Given the description of an element on the screen output the (x, y) to click on. 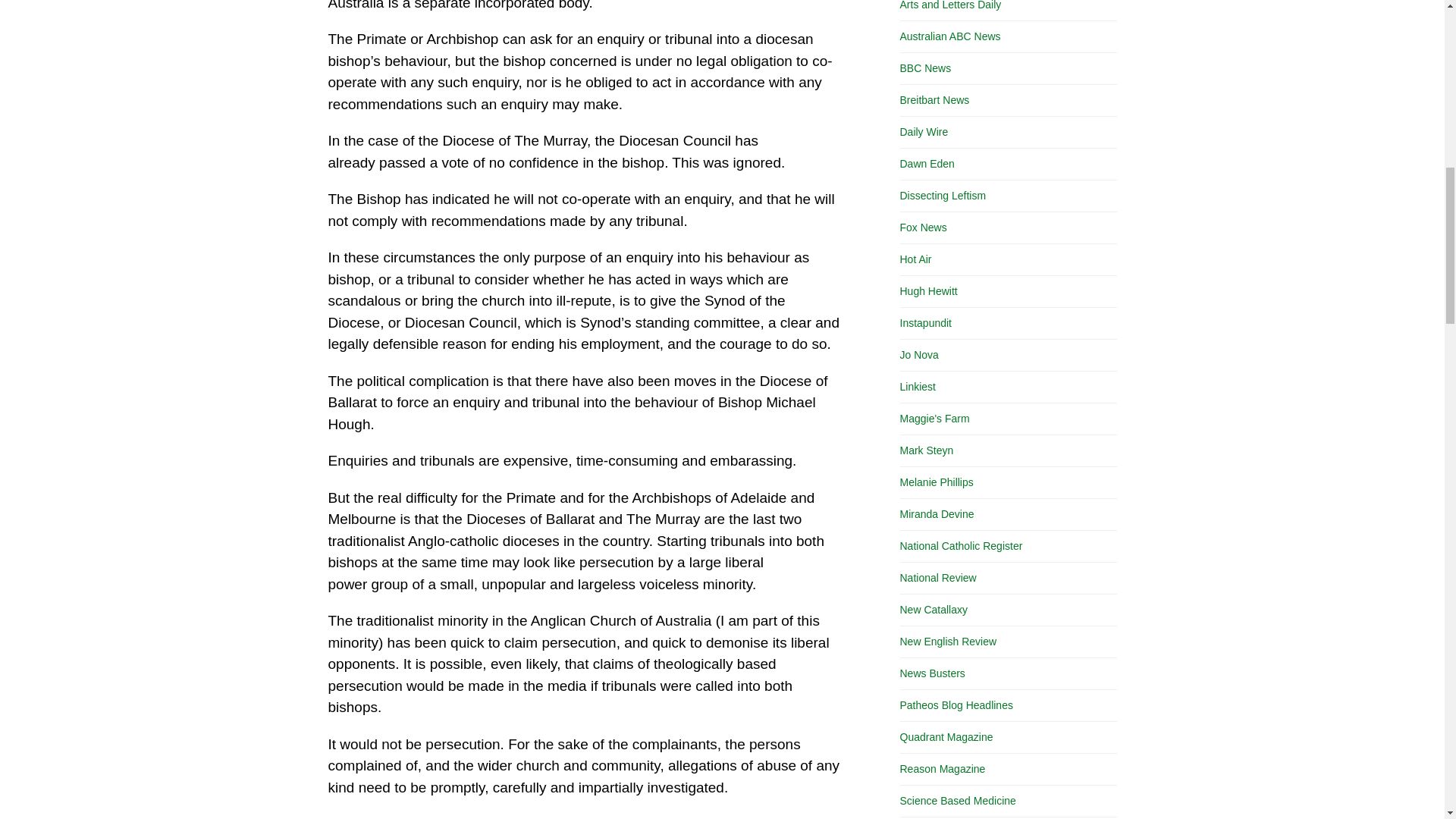
The essential blog for up to the minute commentary. (925, 322)
Carbon, climate and tax (918, 354)
National Catholic Register (960, 545)
Dawn Eden (926, 163)
Australian ABC News (949, 36)
Jo Nova (918, 354)
BBC News (924, 68)
Controversial, informative, interesting, fun (923, 132)
National Review (937, 577)
Melanie Phillips (935, 481)
Arts and Letters Daily (950, 5)
Dissecting Leftism (942, 195)
